Given the description of an element on the screen output the (x, y) to click on. 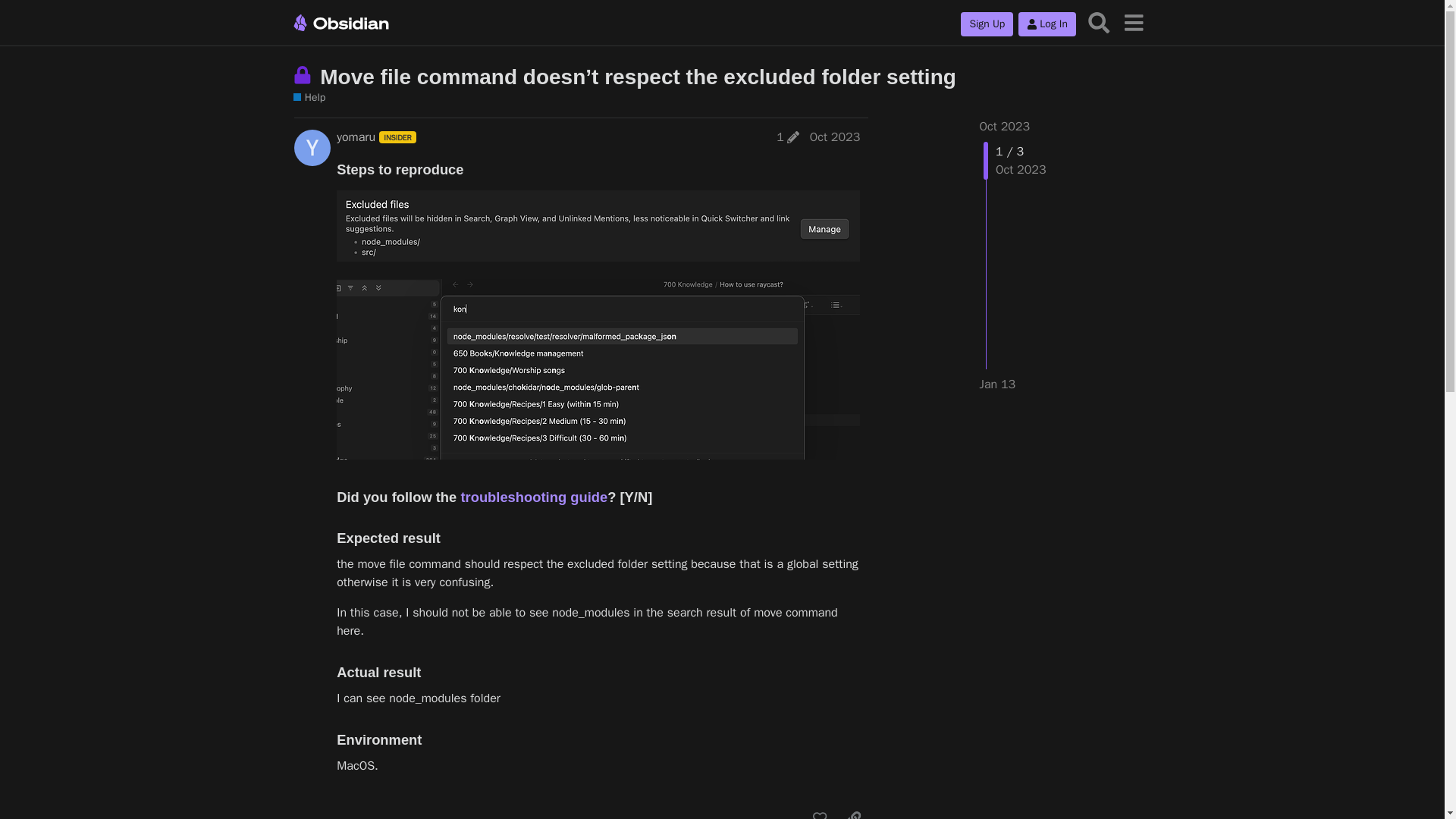
Jump to the last post (997, 384)
Sign Up (986, 24)
Log In (1046, 24)
Oct 2023 (834, 136)
troubleshooting guide (533, 496)
Search (1098, 21)
Post date (834, 136)
Jan 13 (997, 384)
1 (787, 137)
Jump to the first post (1004, 126)
This topic is closed; it no longer accepts new replies (304, 75)
post last edited on Oct 15, 2023 12:59 am (787, 137)
like this post (819, 812)
Help (309, 98)
Oct 2023 (1004, 126)
